Given the description of an element on the screen output the (x, y) to click on. 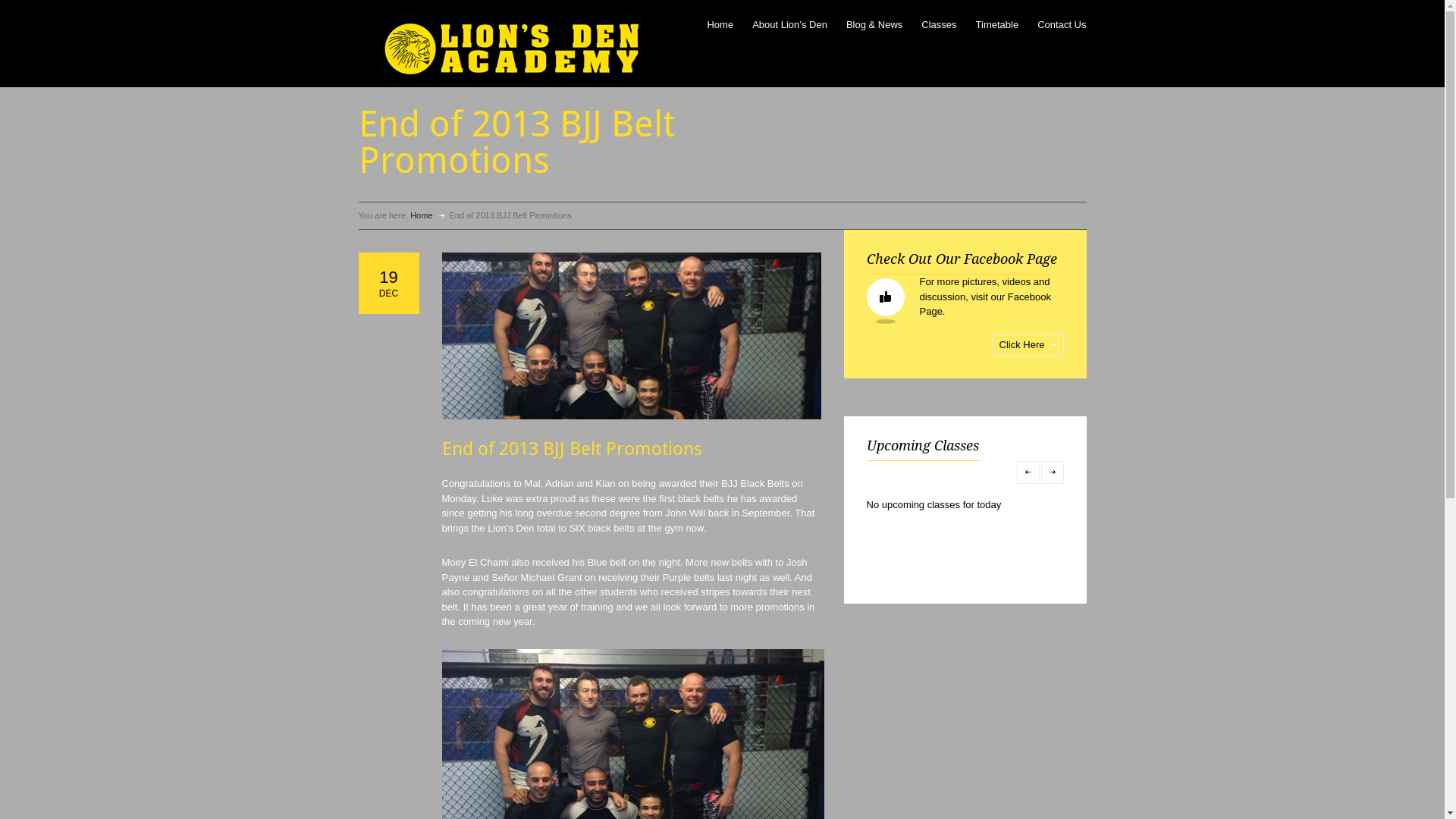
Contact Us Element type: text (1061, 21)
Blog & News Element type: text (874, 21)
Timetable Element type: text (997, 21)
Classes Element type: text (938, 21)
End of 2013 BJJ Belt Promotions Element type: text (571, 448)
End of 2013 BJJ Belt Promotions Element type: hover (630, 335)
Home Element type: text (719, 21)
Home Element type: text (421, 214)
Click Here Element type: text (1027, 343)
